Given the description of an element on the screen output the (x, y) to click on. 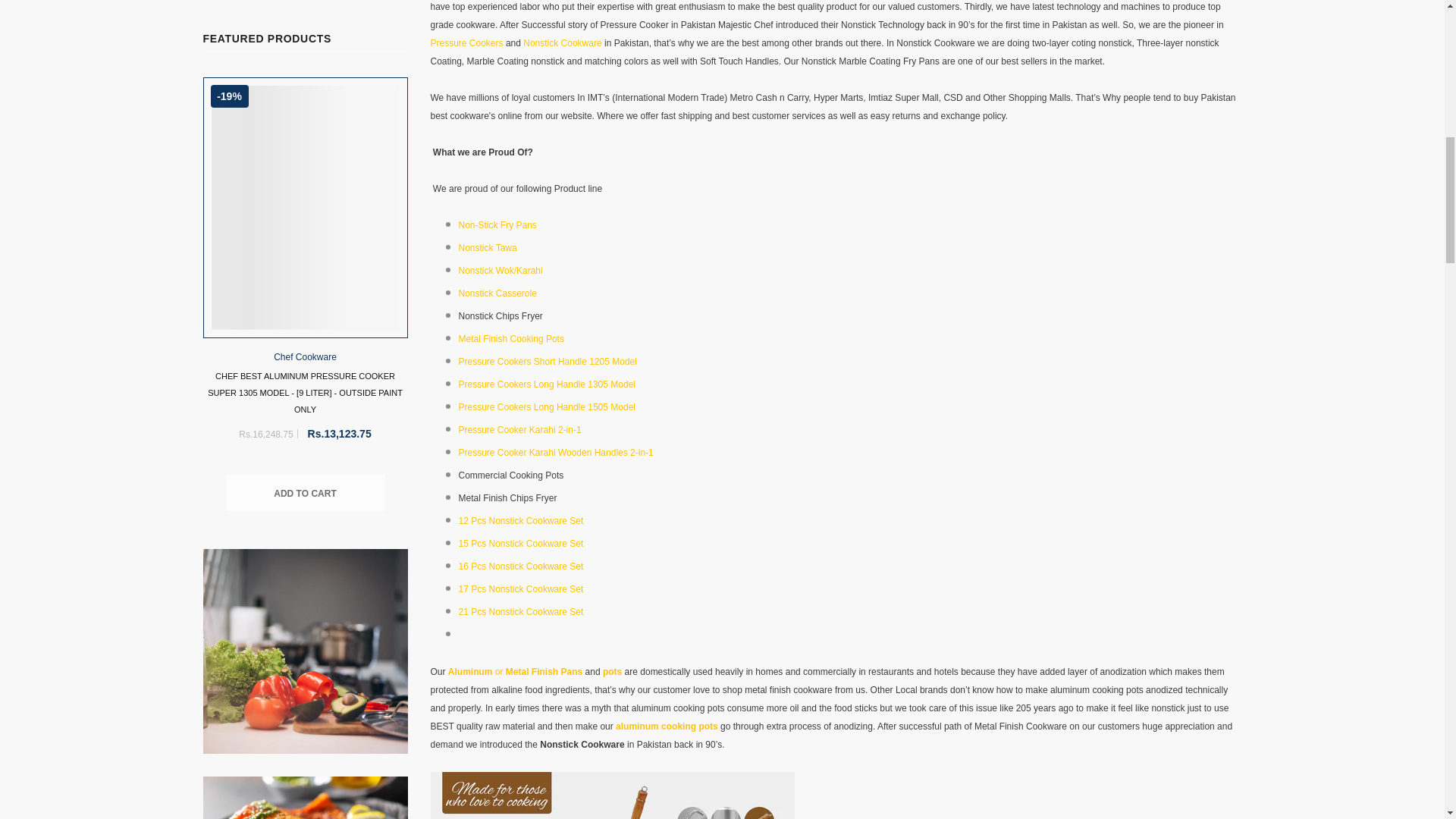
Chef Cookware (304, 357)
